Given the description of an element on the screen output the (x, y) to click on. 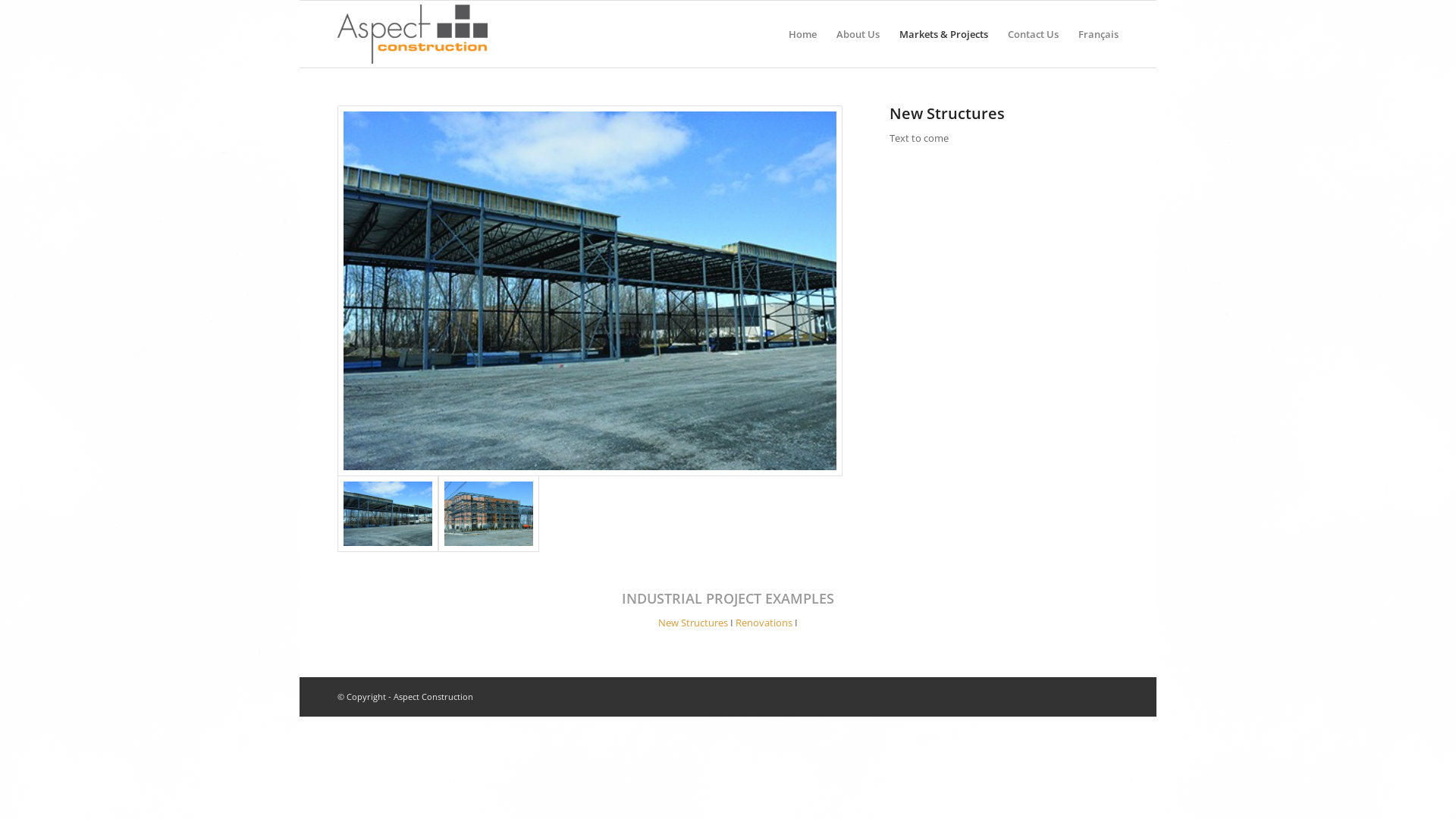
Renovations Element type: text (763, 622)
Photo de structure1 Element type: hover (387, 513)
Photo de structure2 Element type: hover (488, 513)
Markets & Projects Element type: text (943, 33)
Contact Us Element type: text (1032, 33)
Home Element type: text (802, 33)
About Us Element type: text (857, 33)
Photo de structure1 Element type: hover (589, 290)
New Structures Element type: text (693, 622)
